Given the description of an element on the screen output the (x, y) to click on. 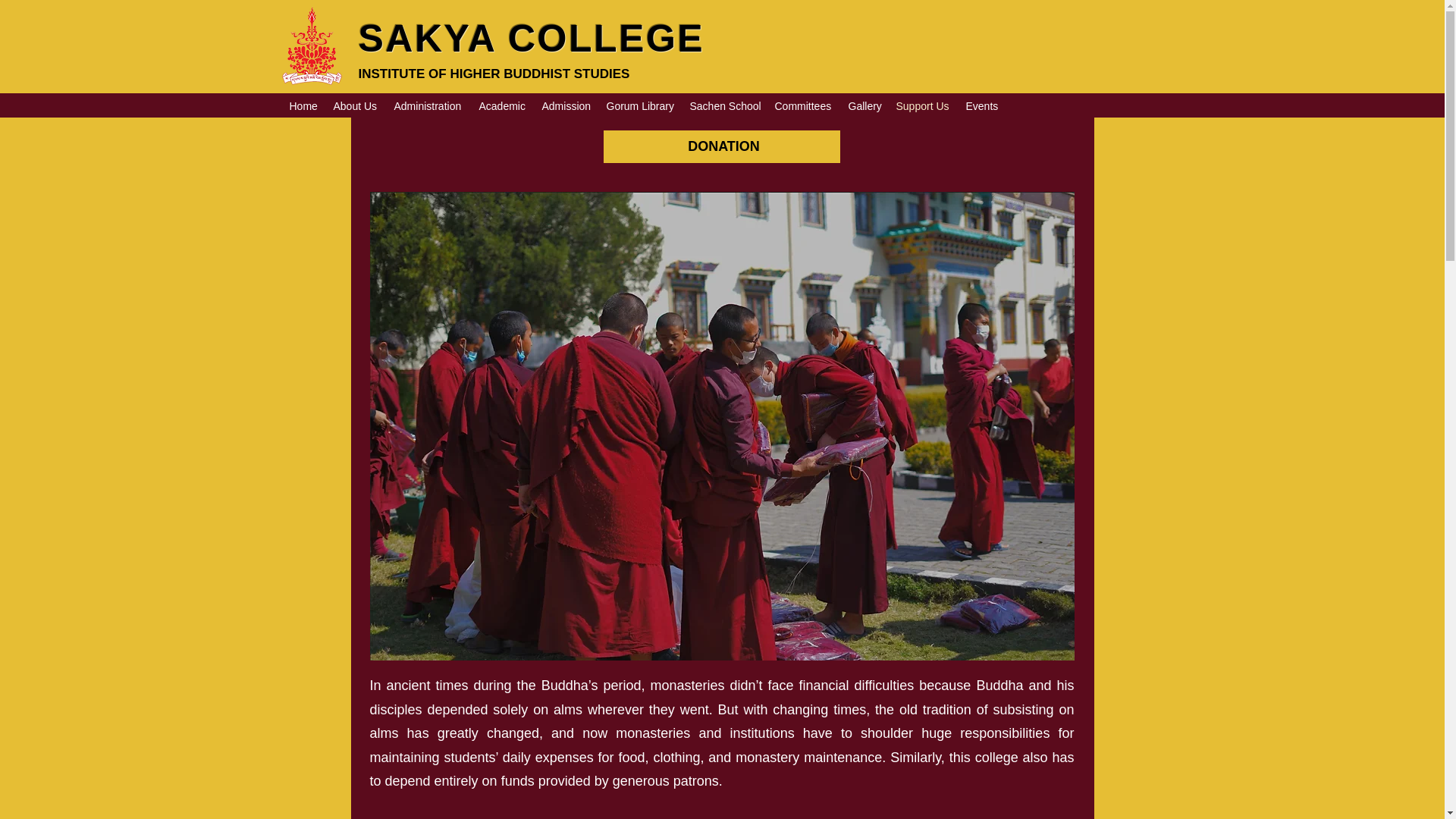
Sachen School (724, 106)
Gorum Library (640, 106)
Admission (566, 106)
Events (981, 106)
About Us (356, 106)
Gallery (864, 106)
Administration (429, 106)
Support Us (923, 106)
Home (304, 106)
Academic (502, 106)
Committees (804, 106)
